Given the description of an element on the screen output the (x, y) to click on. 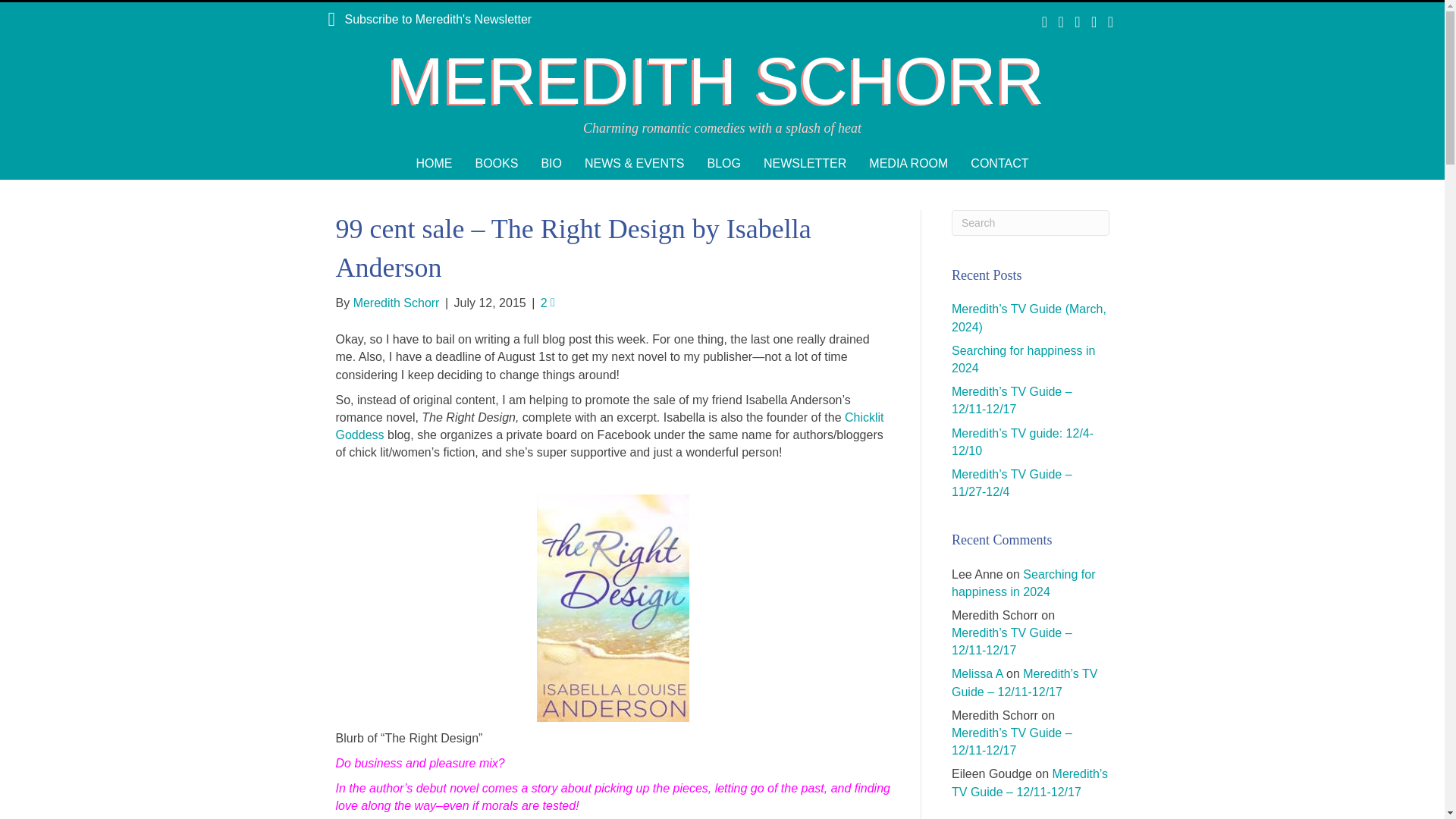
CONTACT (999, 163)
MEREDITH SCHORR (722, 81)
BLOG (723, 163)
Type and press Enter to search. (1030, 222)
HOME (433, 163)
BOOKS (496, 163)
MEDIA ROOM (908, 163)
NEWSLETTER (804, 163)
Meredith Schorr (396, 302)
2 (547, 302)
